Given the description of an element on the screen output the (x, y) to click on. 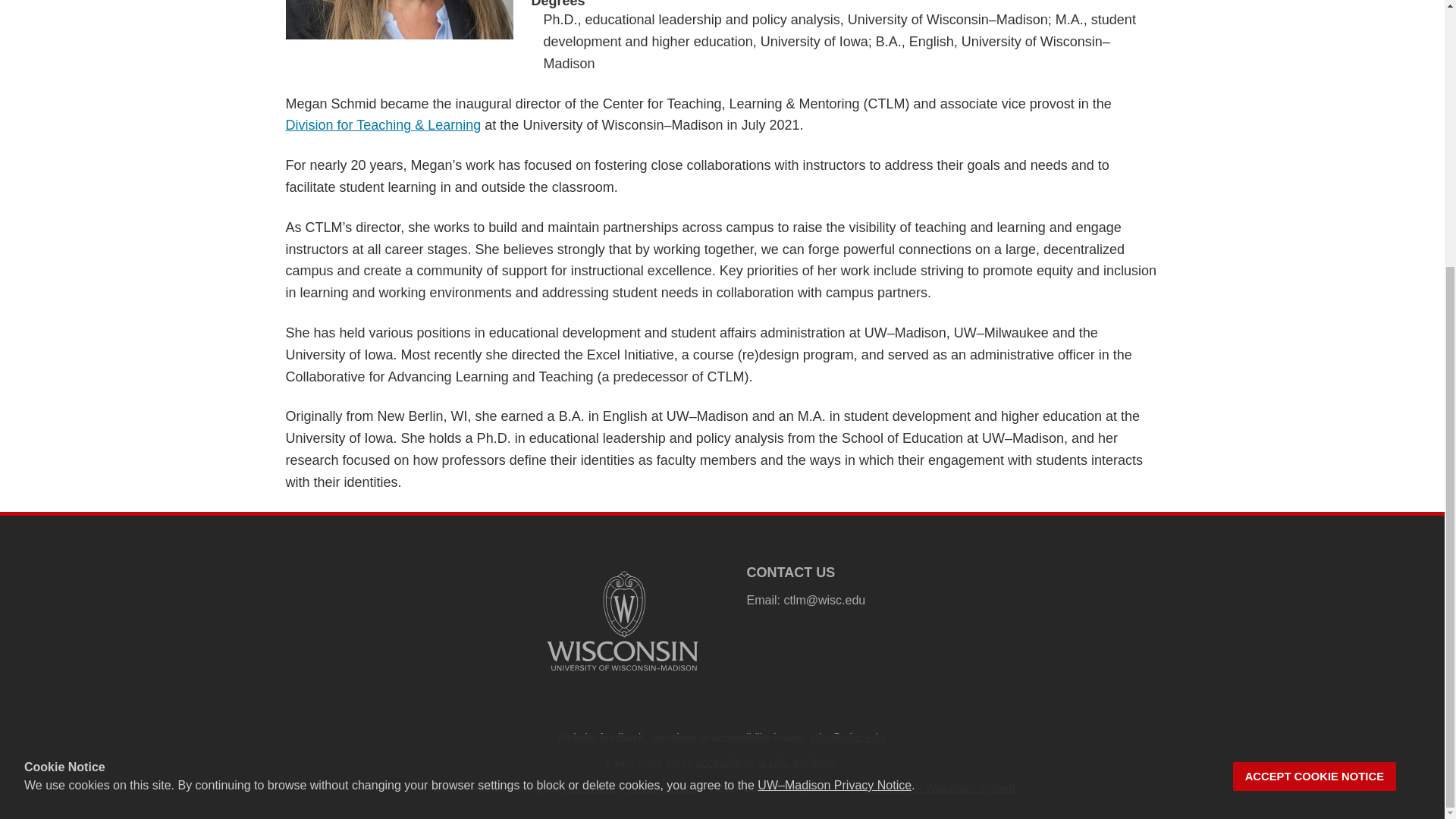
ACCEPT COOKIE NOTICE (1314, 389)
UW Theme (590, 787)
University logo that links to main university website (621, 620)
Privacy Notice (662, 787)
University of Wisconsin System. (939, 787)
University logo that links to main university website (621, 672)
